Given the description of an element on the screen output the (x, y) to click on. 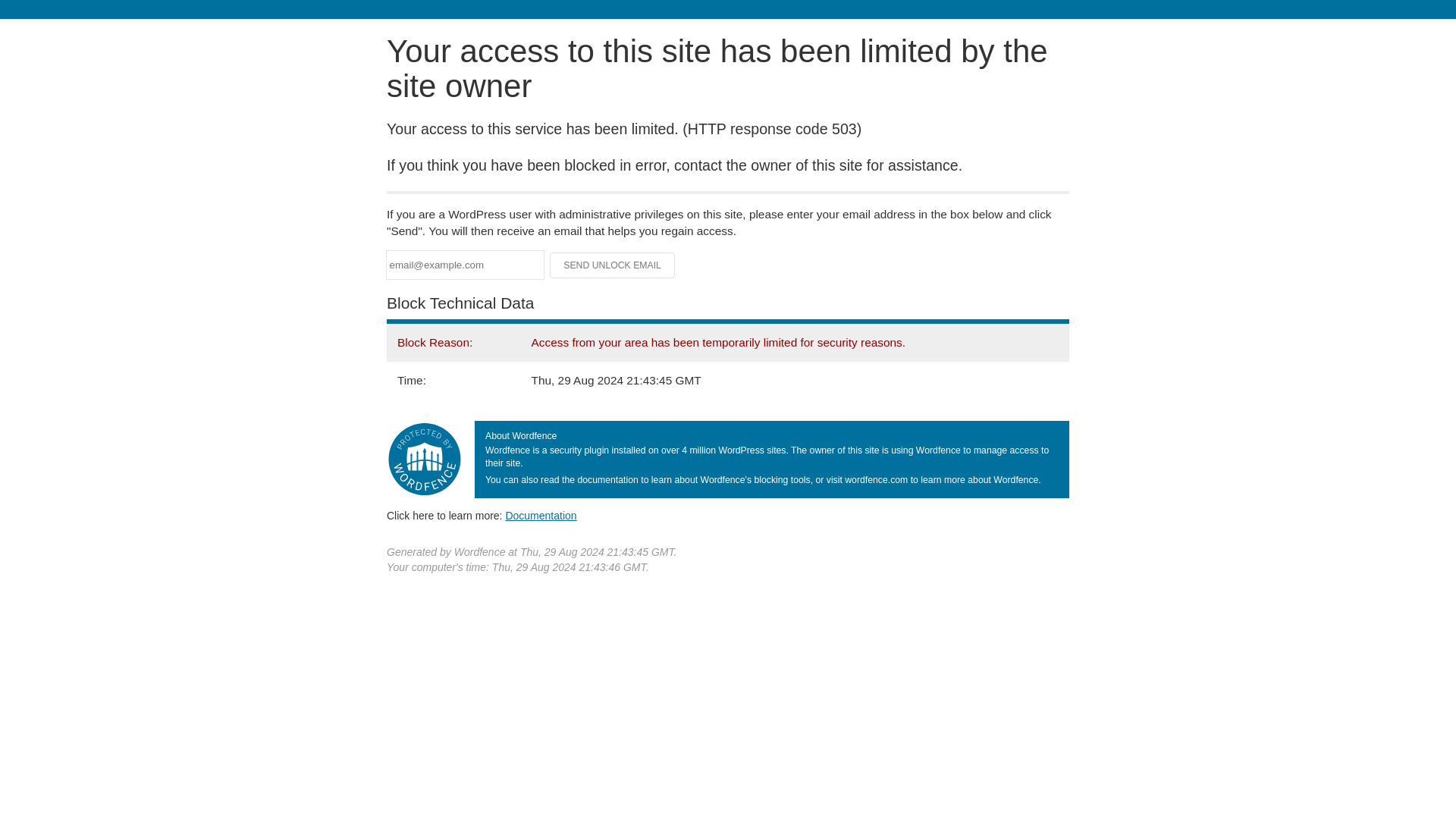
Documentation (540, 515)
Send Unlock Email (612, 265)
Send Unlock Email (612, 265)
